Given the description of an element on the screen output the (x, y) to click on. 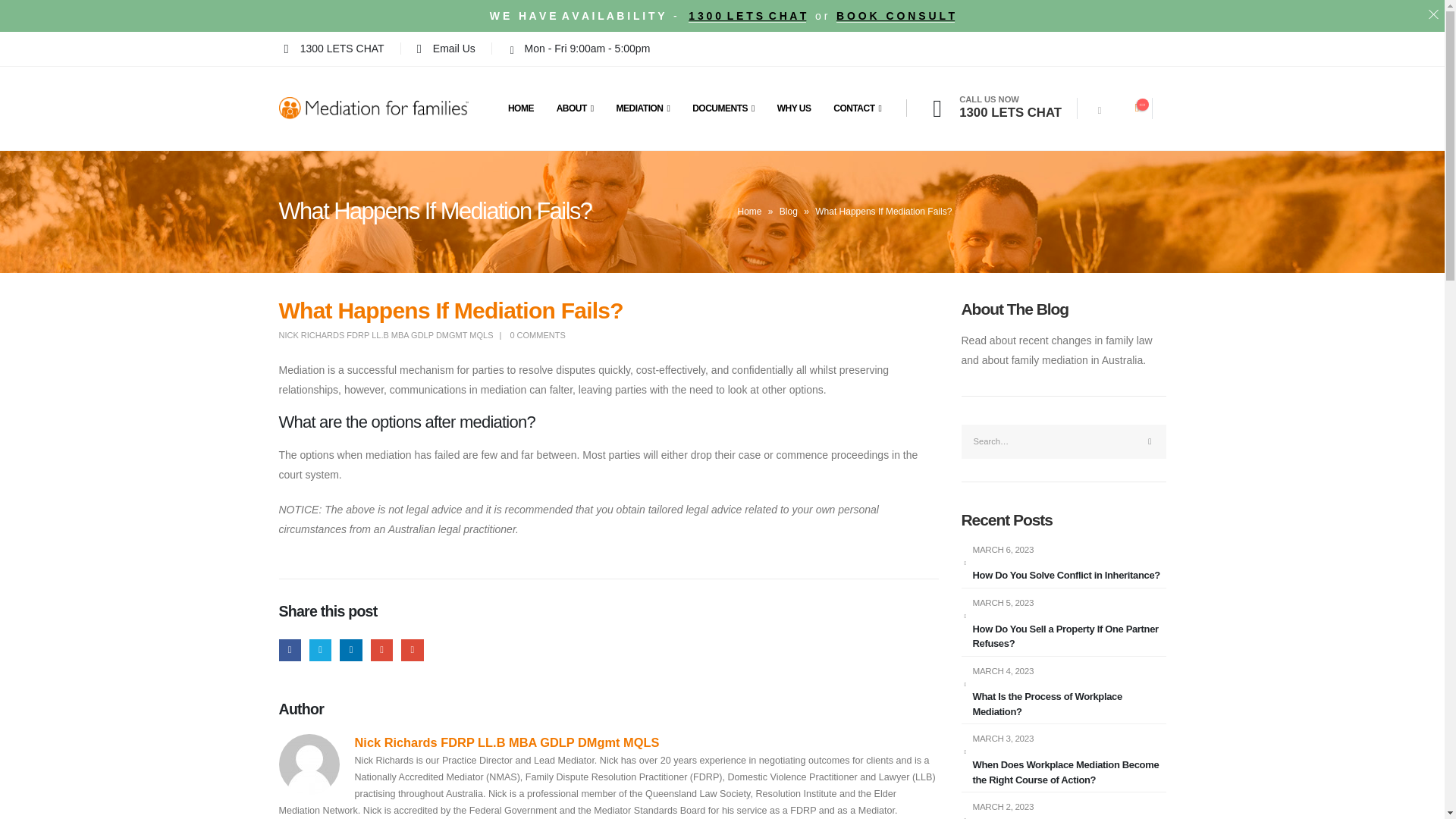
Posts by Nick Richards FDRP LL.B MBA GDLP DMgmt MQLS (386, 334)
B O O K   C O N S U L T (895, 15)
Email Us (446, 47)
Mon - Fri 9:00am - 5:00pm (576, 47)
Posts by Nick Richards FDRP LL.B MBA GDLP DMgmt MQLS (507, 742)
1300 LETS CHAT (334, 47)
0 COMMENTS (536, 334)
1 3 0 0  L E T S  C H A T (747, 15)
